Given the description of an element on the screen output the (x, y) to click on. 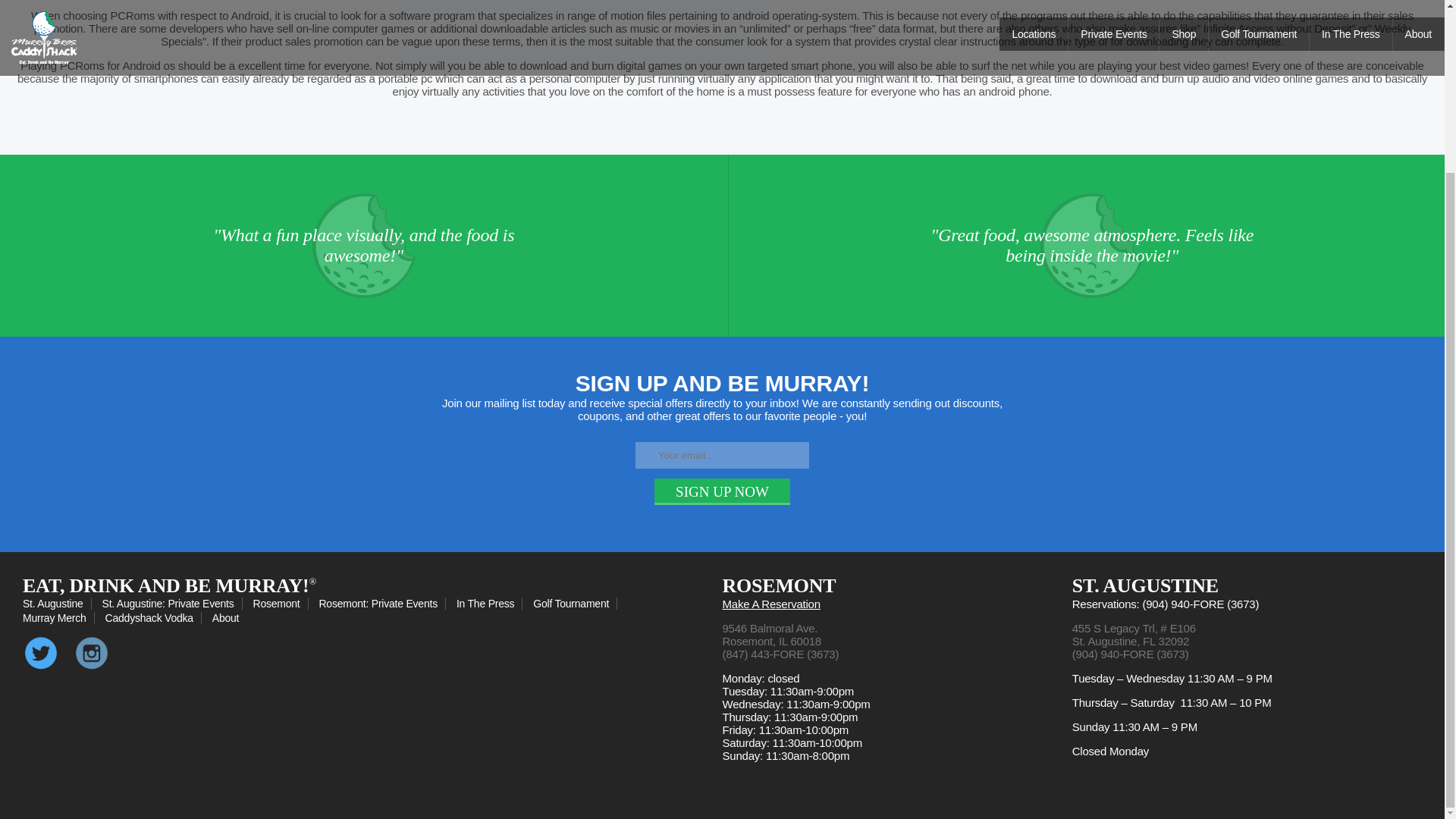
Sign Up Now (721, 491)
Make A Reservation (770, 603)
Rosemont: Private Events (381, 603)
Murray Merch (58, 617)
Golf Tournament (574, 603)
About (229, 617)
Rosemont (280, 603)
Sign Up Now (721, 491)
St. Augustine (57, 603)
St. Augustine: Private Events (172, 603)
